Given the description of an element on the screen output the (x, y) to click on. 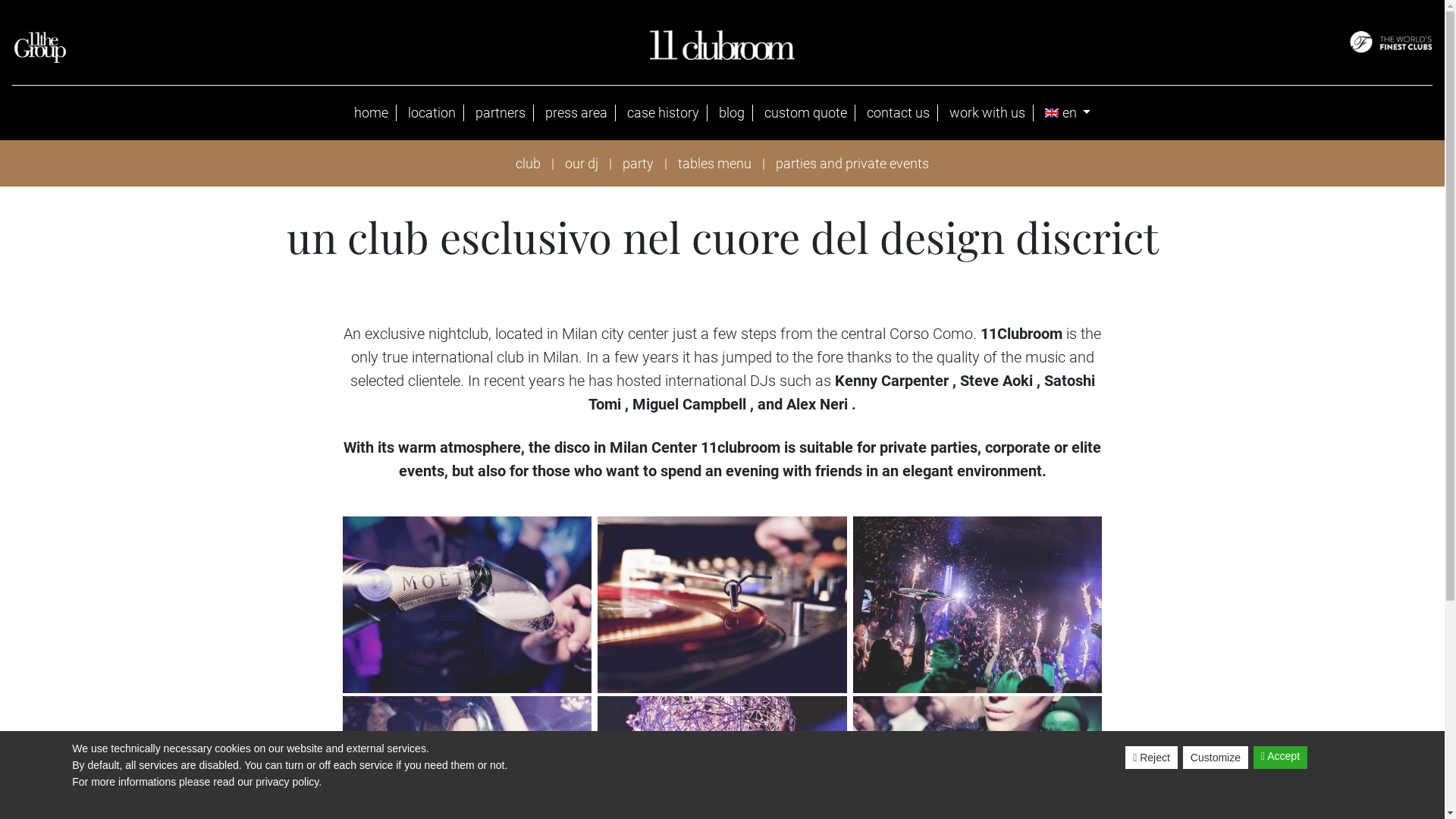
home Element type: text (371, 112)
parties and private events Element type: text (852, 163)
contact us Element type: text (898, 112)
party Element type: text (638, 163)
custom quote Element type: text (805, 112)
tables menu Element type: text (714, 163)
press area Element type: text (576, 112)
blog Element type: text (732, 112)
EN Element type: hover (1051, 112)
location Element type: text (432, 112)
Customize Element type: text (1215, 757)
-8.f9fe79ec308b2511cec60789cffa765b Element type: hover (467, 605)
-7.f9fe79ec308b2511cec60789cffa765b Element type: hover (722, 605)
our dj Element type: text (581, 163)
club Element type: text (528, 163)
case history Element type: text (663, 112)
-6.f9fe79ec308b2511cec60789cffa765b Element type: hover (977, 605)
partners Element type: text (500, 112)
Skip to content Element type: text (0, 0)
en Element type: text (1067, 112)
work with us Element type: text (987, 112)
